Given the description of an element on the screen output the (x, y) to click on. 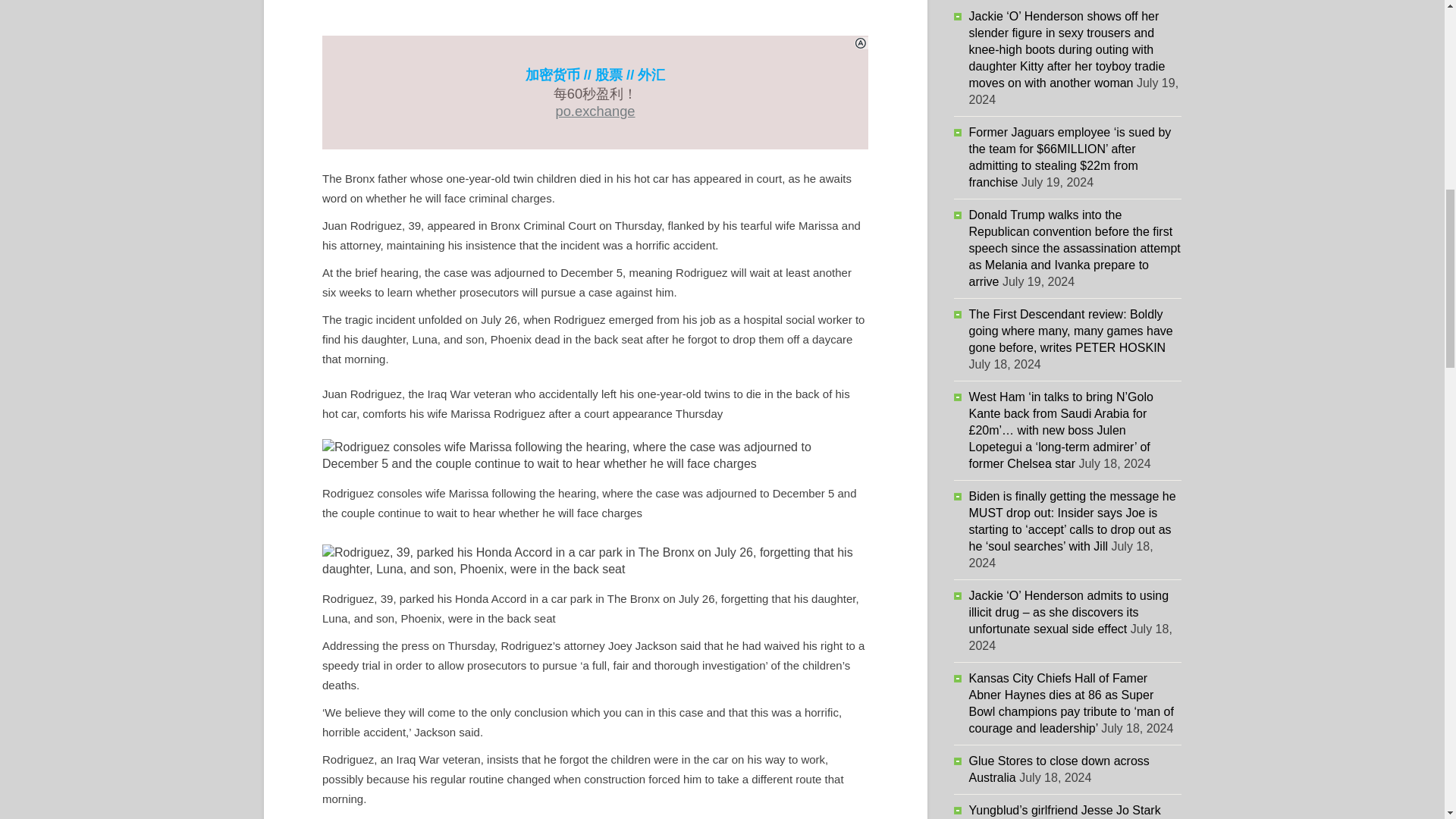
Glue Stores to close down across Australia (1059, 768)
